Given the description of an element on the screen output the (x, y) to click on. 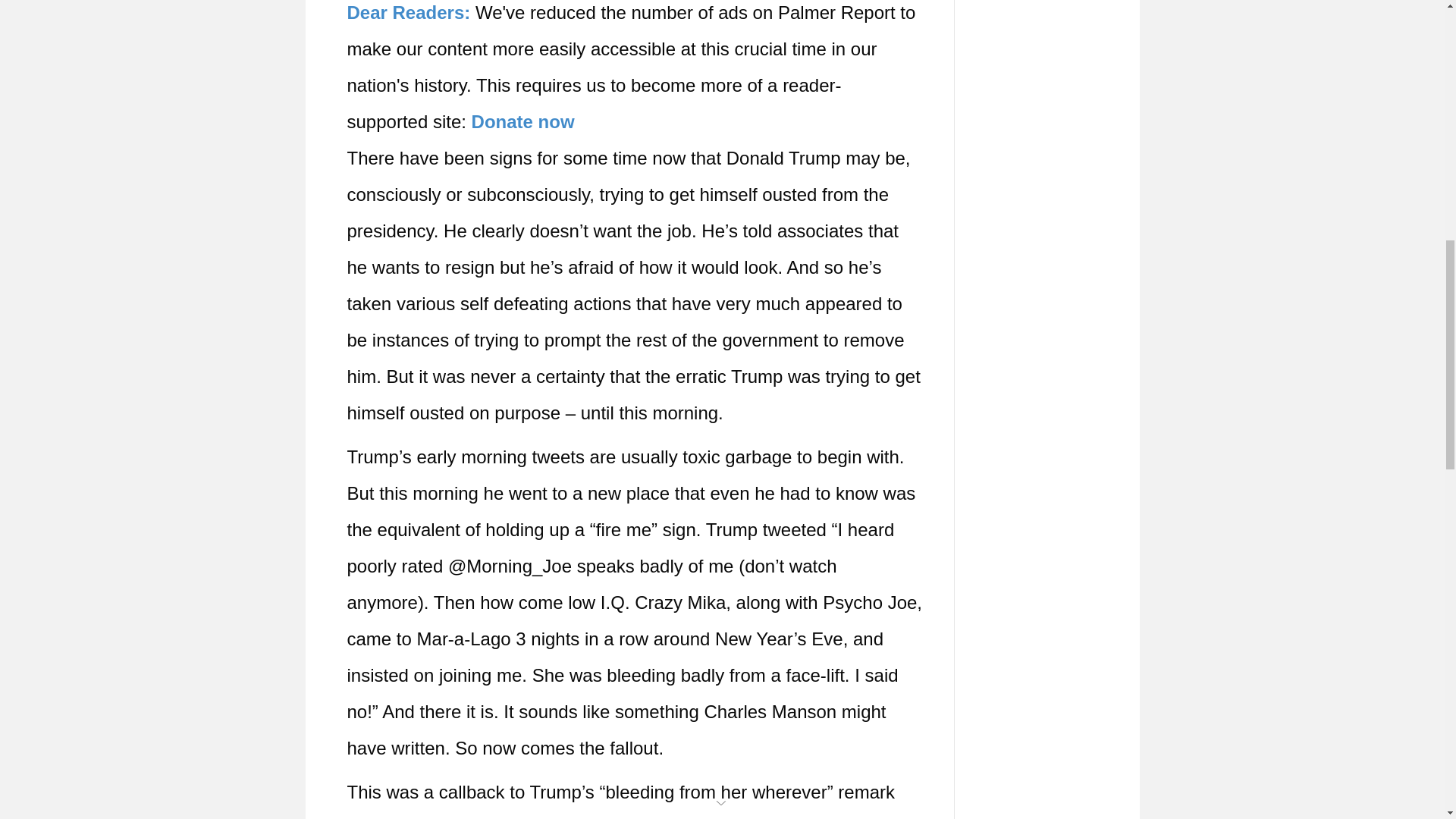
Donate now (523, 121)
Dear Readers: (408, 12)
